Given the description of an element on the screen output the (x, y) to click on. 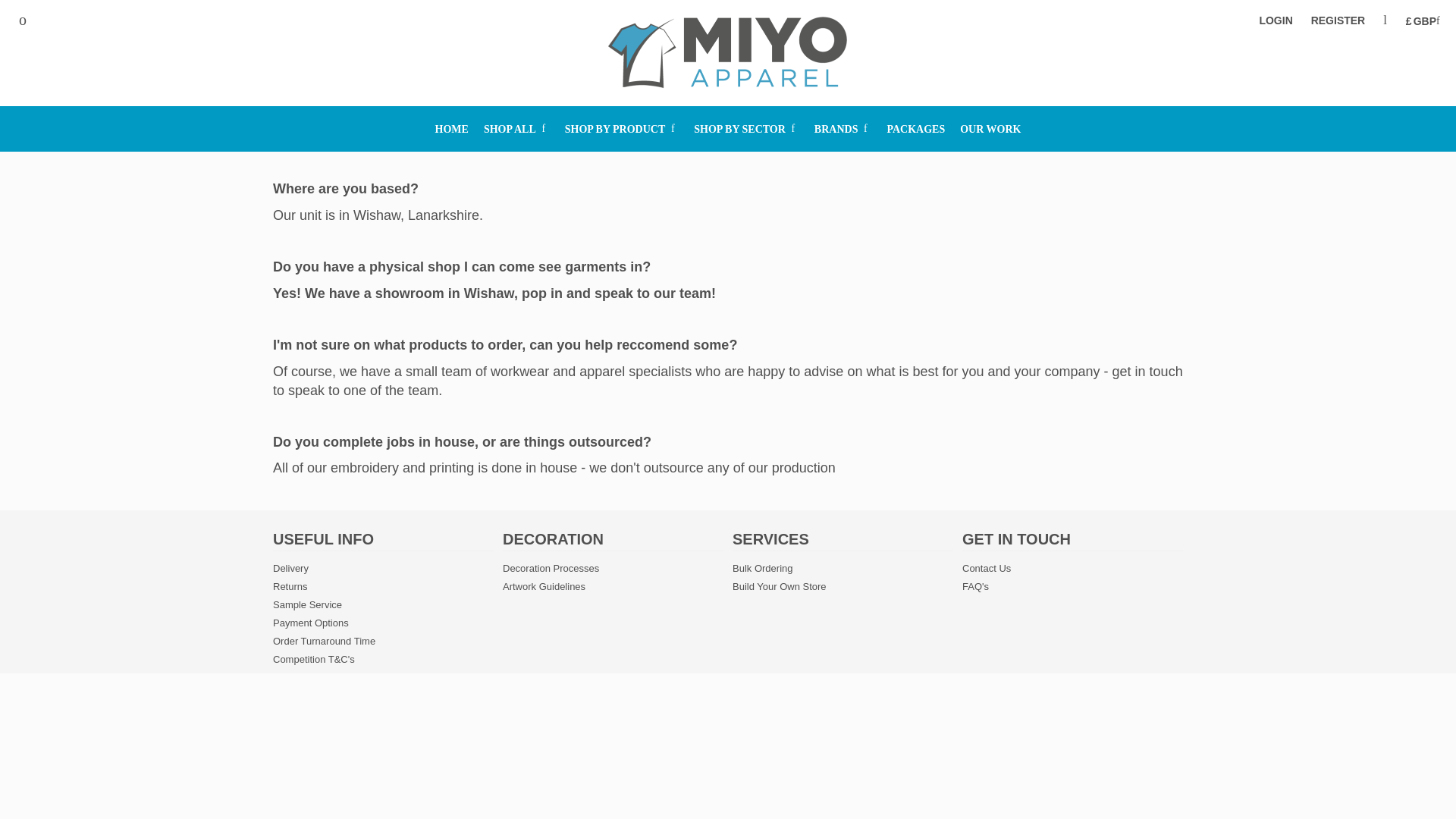
FAQ's (975, 586)
Build Your Own Store (779, 586)
SHOP BY SECTOR (746, 128)
Sample Service (307, 604)
Bulk Ordering (762, 568)
Order Turnaround Time (324, 641)
OUR WORK (989, 128)
LOGIN (1275, 20)
SHOP BY PRODUCT (621, 128)
PACKAGES (915, 128)
